Given the description of an element on the screen output the (x, y) to click on. 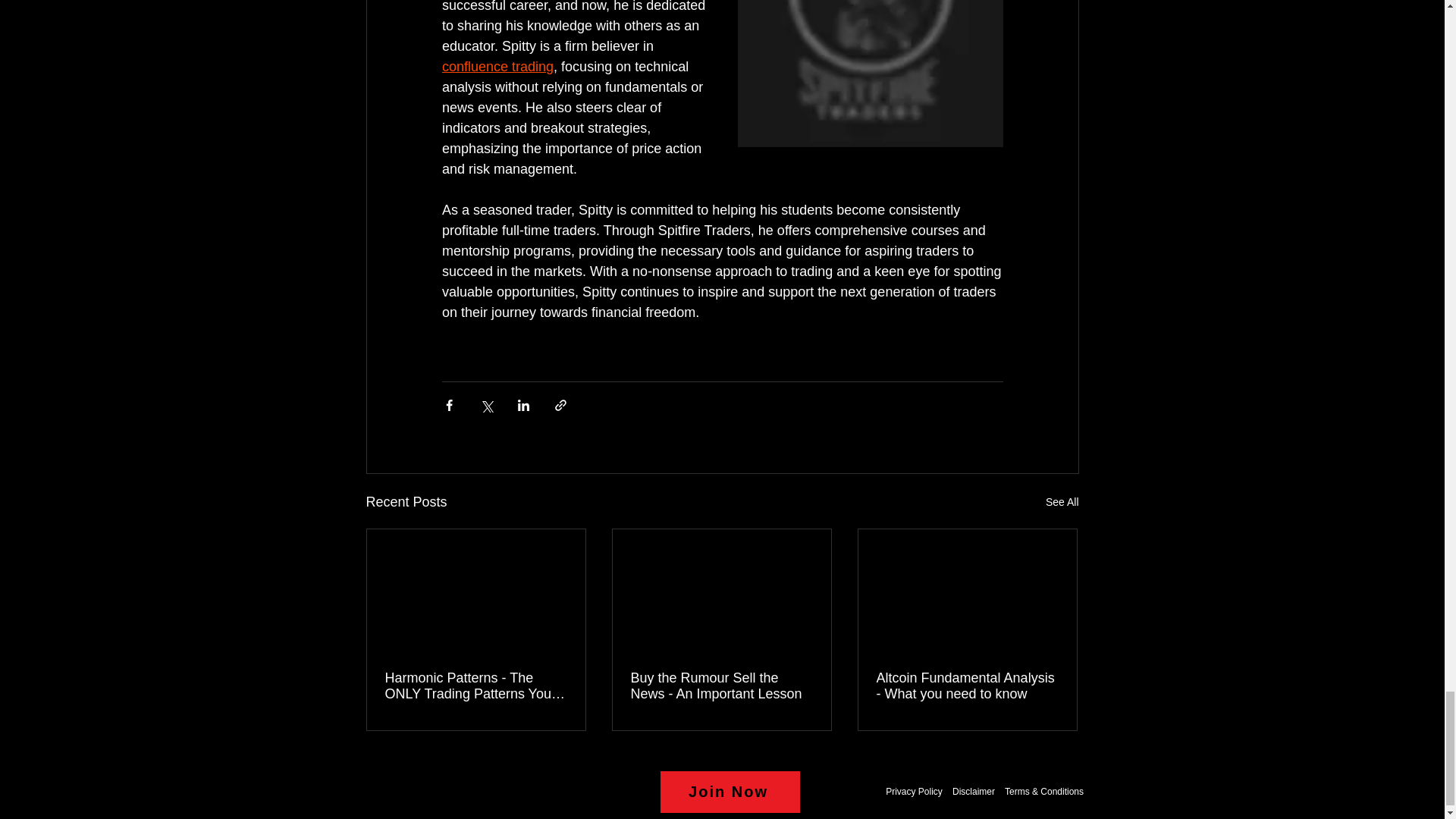
Harmonic Patterns - The ONLY Trading Patterns You Need (476, 685)
See All (1061, 502)
Altcoin Fundamental Analysis - What you need to know (967, 685)
confluence trading (497, 66)
Buy the Rumour Sell the News - An Important Lesson (721, 685)
